Given the description of an element on the screen output the (x, y) to click on. 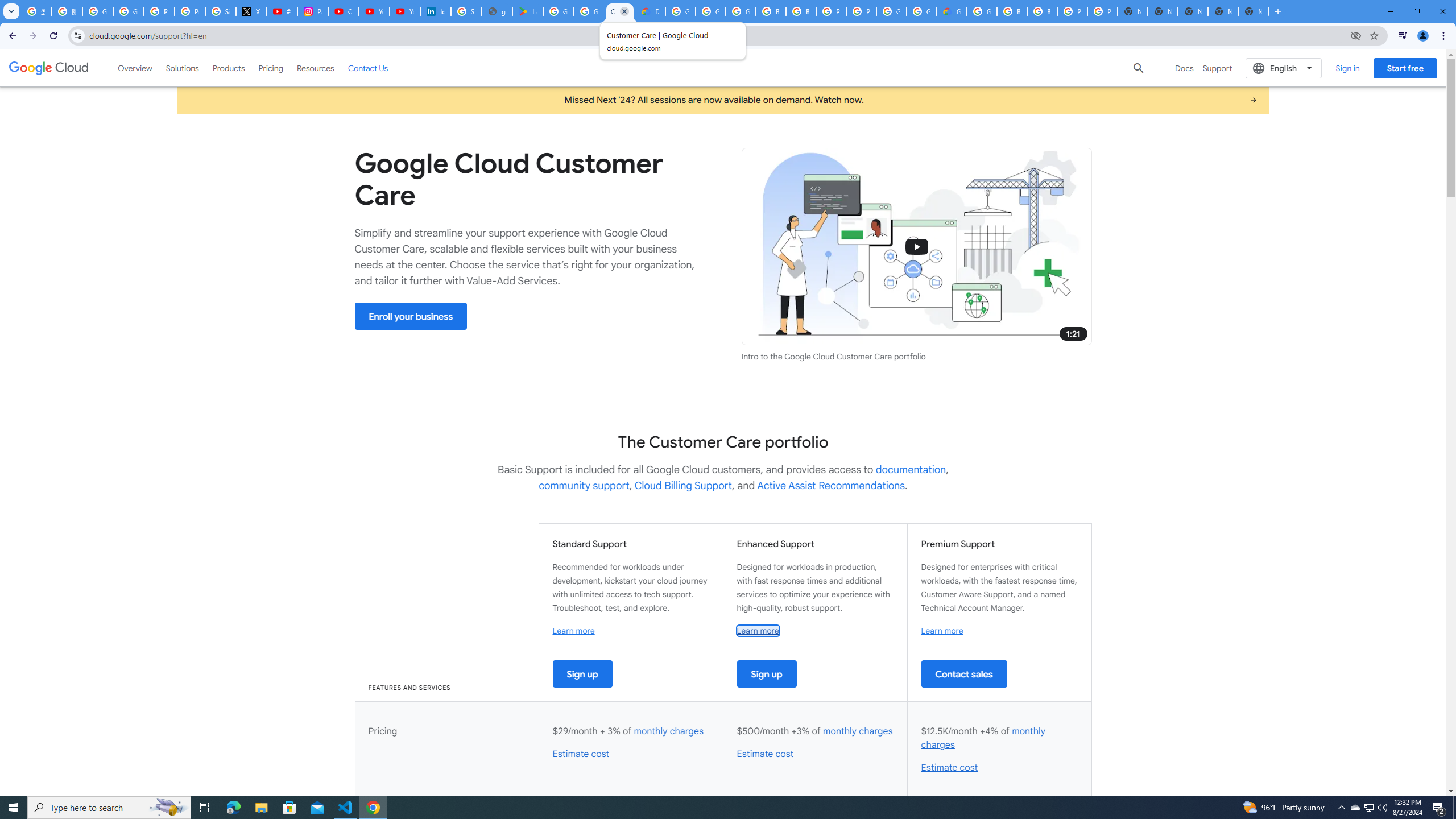
Resources (314, 67)
Enroll your business (410, 316)
Last Shelter: Survival - Apps on Google Play (527, 11)
Google Cloud (48, 67)
Products (228, 67)
Browse Chrome as a guest - Computer - Google Chrome Help (1042, 11)
documentation (910, 469)
google_privacy_policy_en.pdf (496, 11)
Google Cloud Estimate Summary (951, 11)
